Given the description of an element on the screen output the (x, y) to click on. 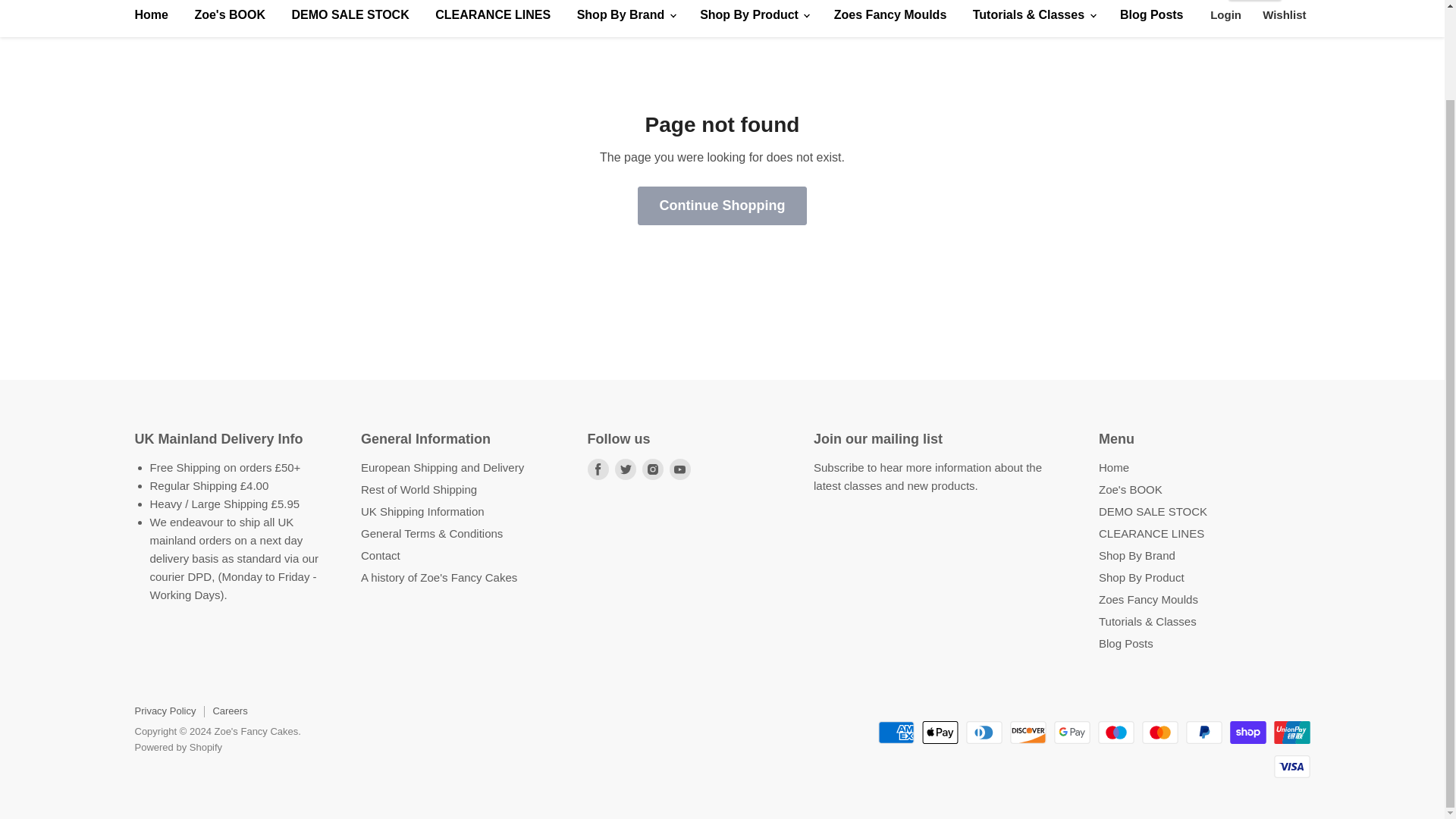
Youtube (679, 468)
Diners Club (984, 732)
Apple Pay (939, 732)
Facebook (597, 468)
Maestro (1115, 732)
PayPal (1204, 732)
Union Pay (1292, 732)
Instagram (652, 468)
Twitter (624, 468)
American Express (895, 732)
